Given the description of an element on the screen output the (x, y) to click on. 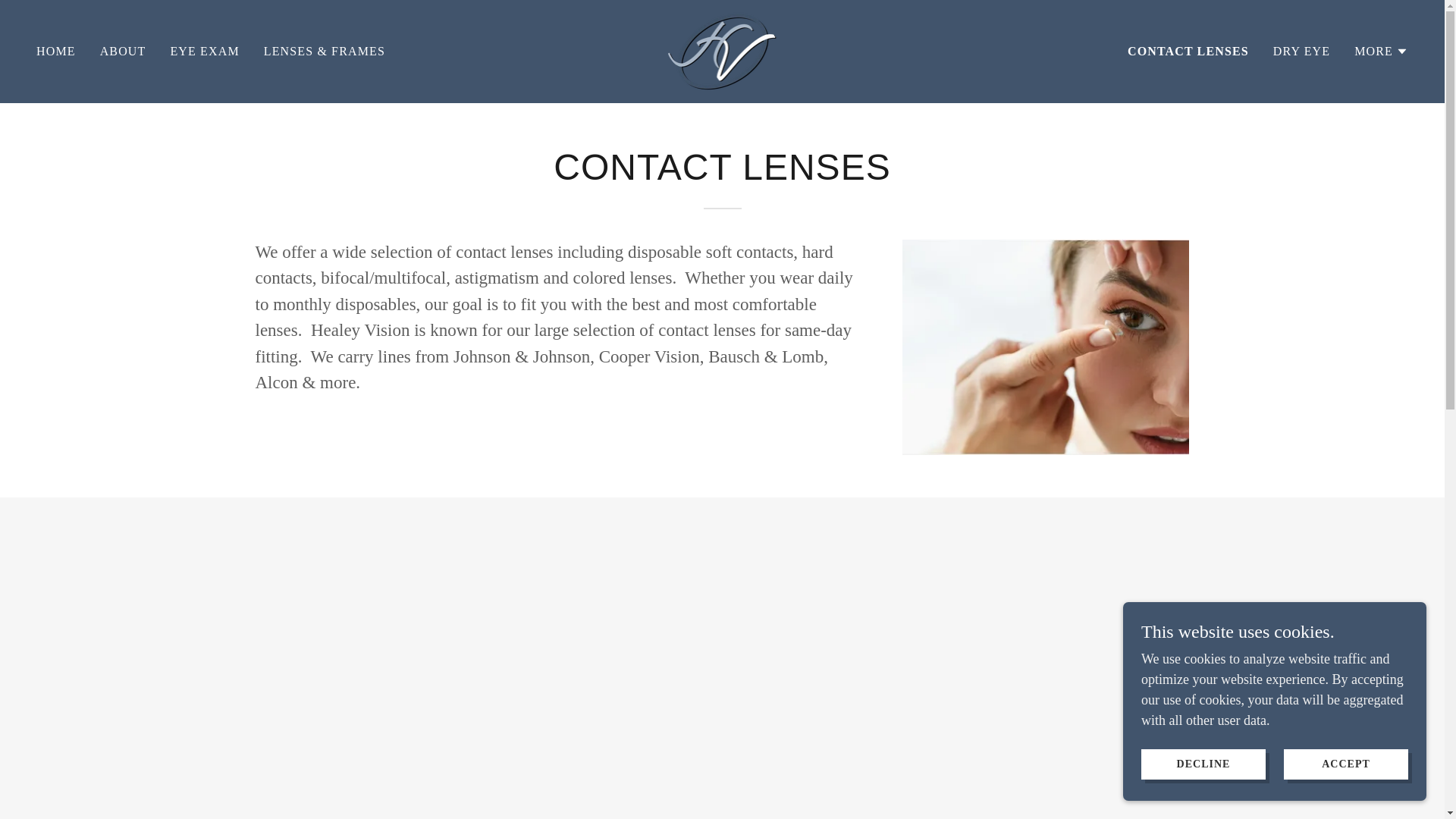
DRY EYE (1301, 51)
HOME (56, 51)
MORE (1380, 51)
CONTACT LENSES (1187, 51)
EYE EXAM (204, 51)
ABOUT (123, 51)
